Given the description of an element on the screen output the (x, y) to click on. 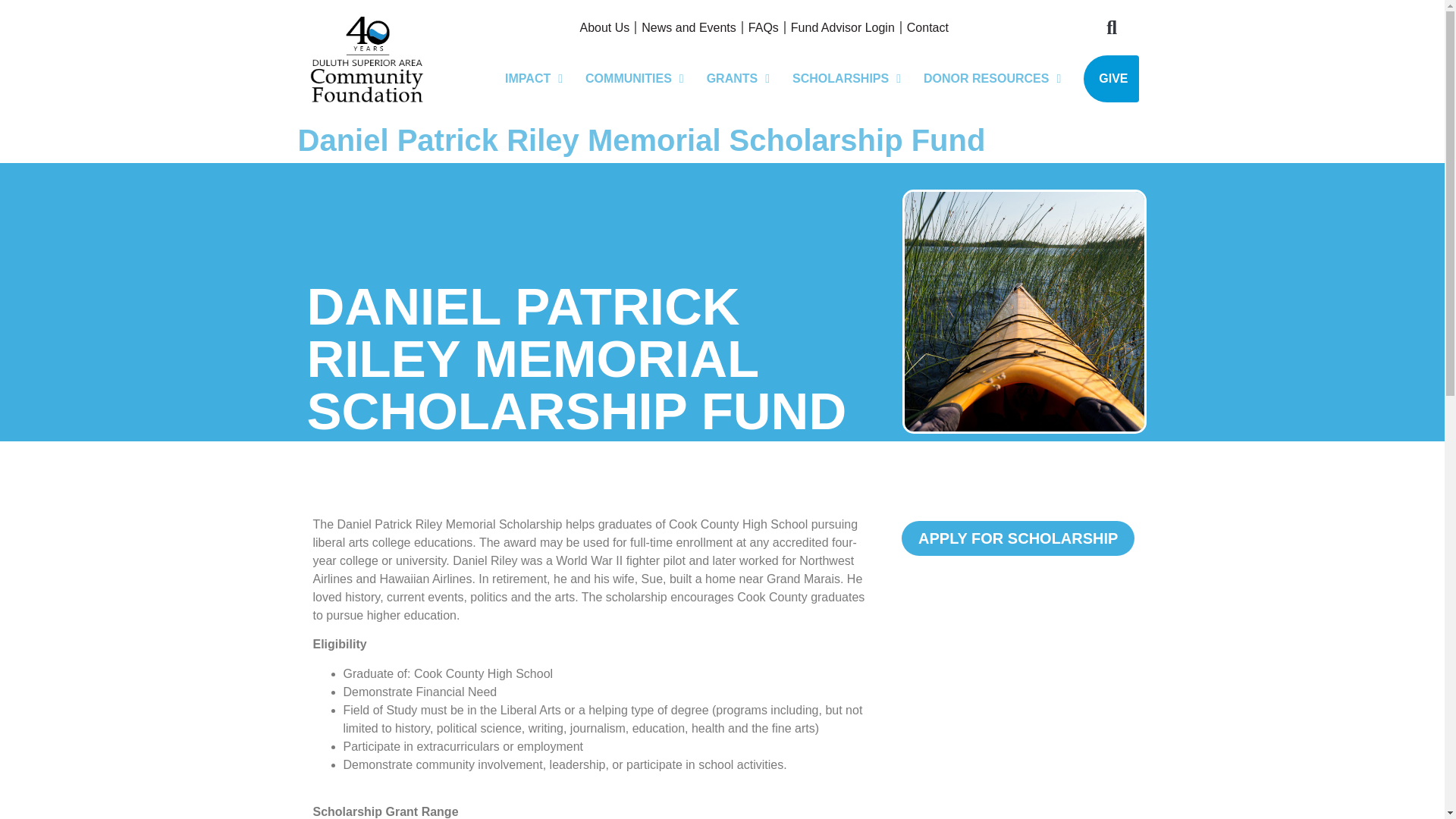
SCHOLARSHIPS (846, 78)
GRANTS (737, 78)
COMMUNITIES (634, 78)
News and Events (688, 27)
Fund Advisor Login (842, 27)
About Us (603, 27)
FAQs (763, 27)
DONOR RESOURCES (991, 78)
IMPACT (533, 78)
Contact (927, 27)
